Given the description of an element on the screen output the (x, y) to click on. 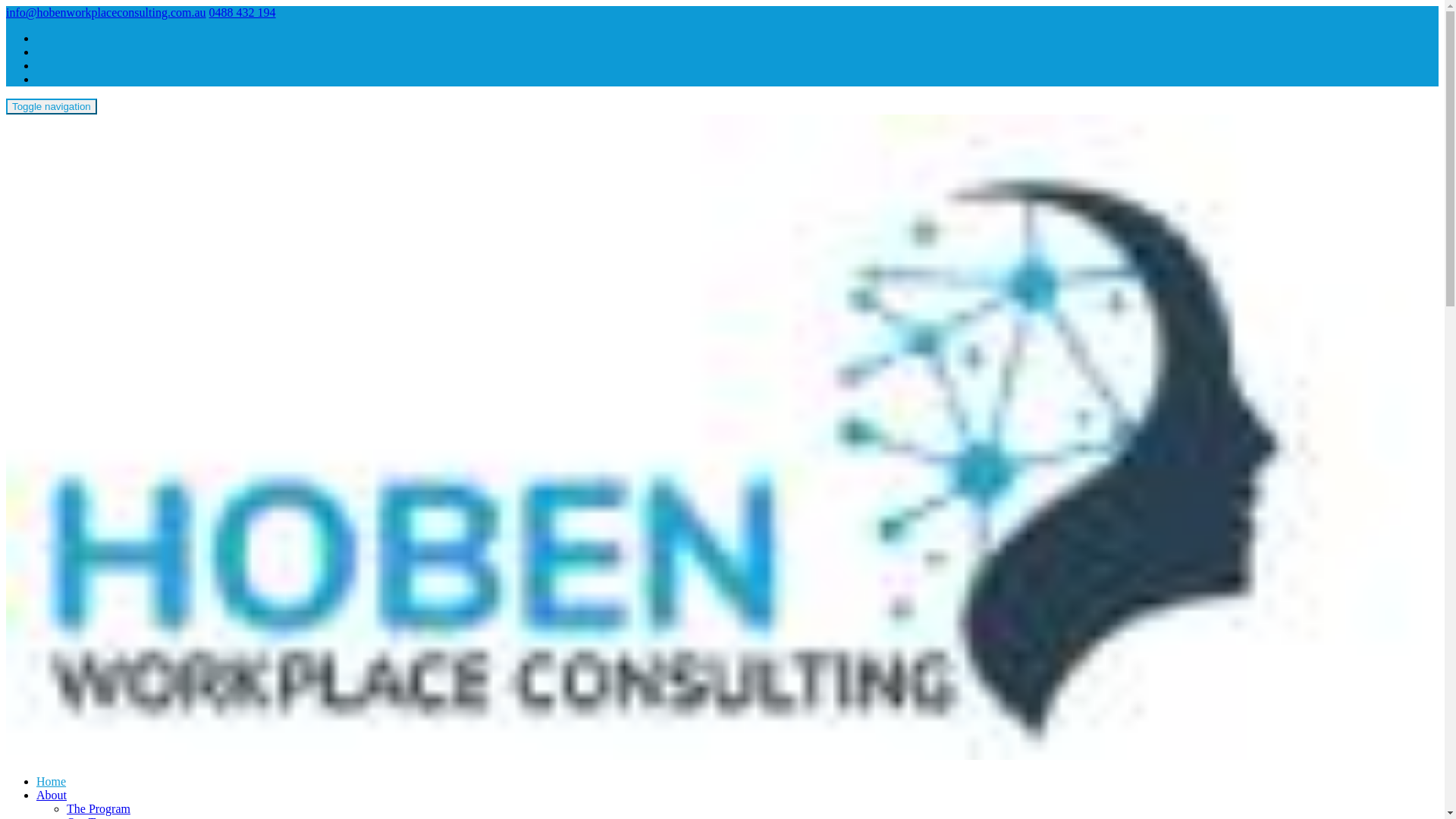
0488 432 194 Element type: text (242, 12)
Home Element type: text (50, 781)
info@hobenworkplaceconsulting.com.au Element type: text (106, 12)
Delivering Customised Change Management Element type: hover (722, 755)
Toggle navigation Element type: text (51, 106)
The Program Element type: text (98, 808)
About Element type: text (51, 794)
